Given the description of an element on the screen output the (x, y) to click on. 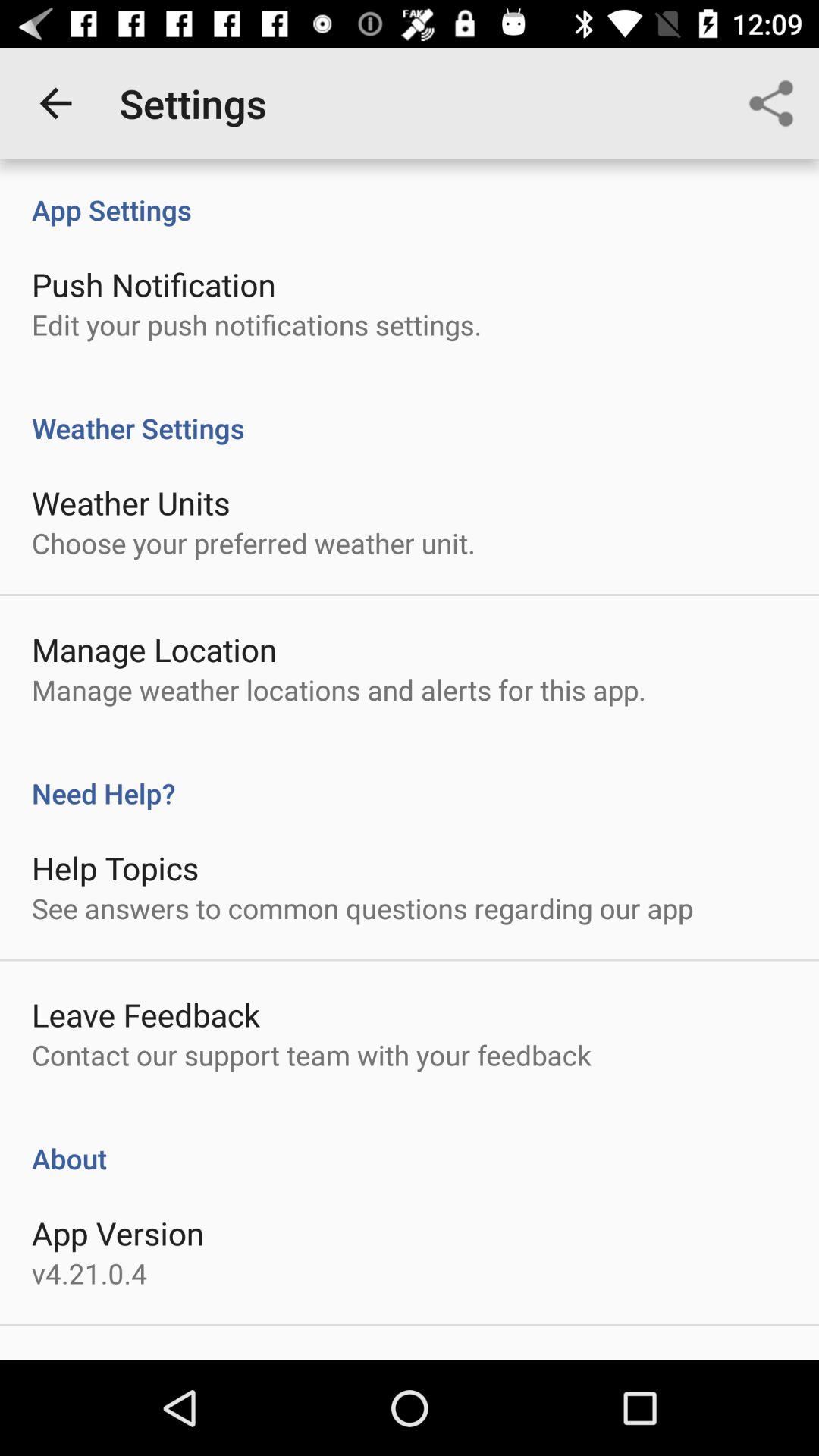
swipe to manage weather locations item (338, 689)
